Given the description of an element on the screen output the (x, y) to click on. 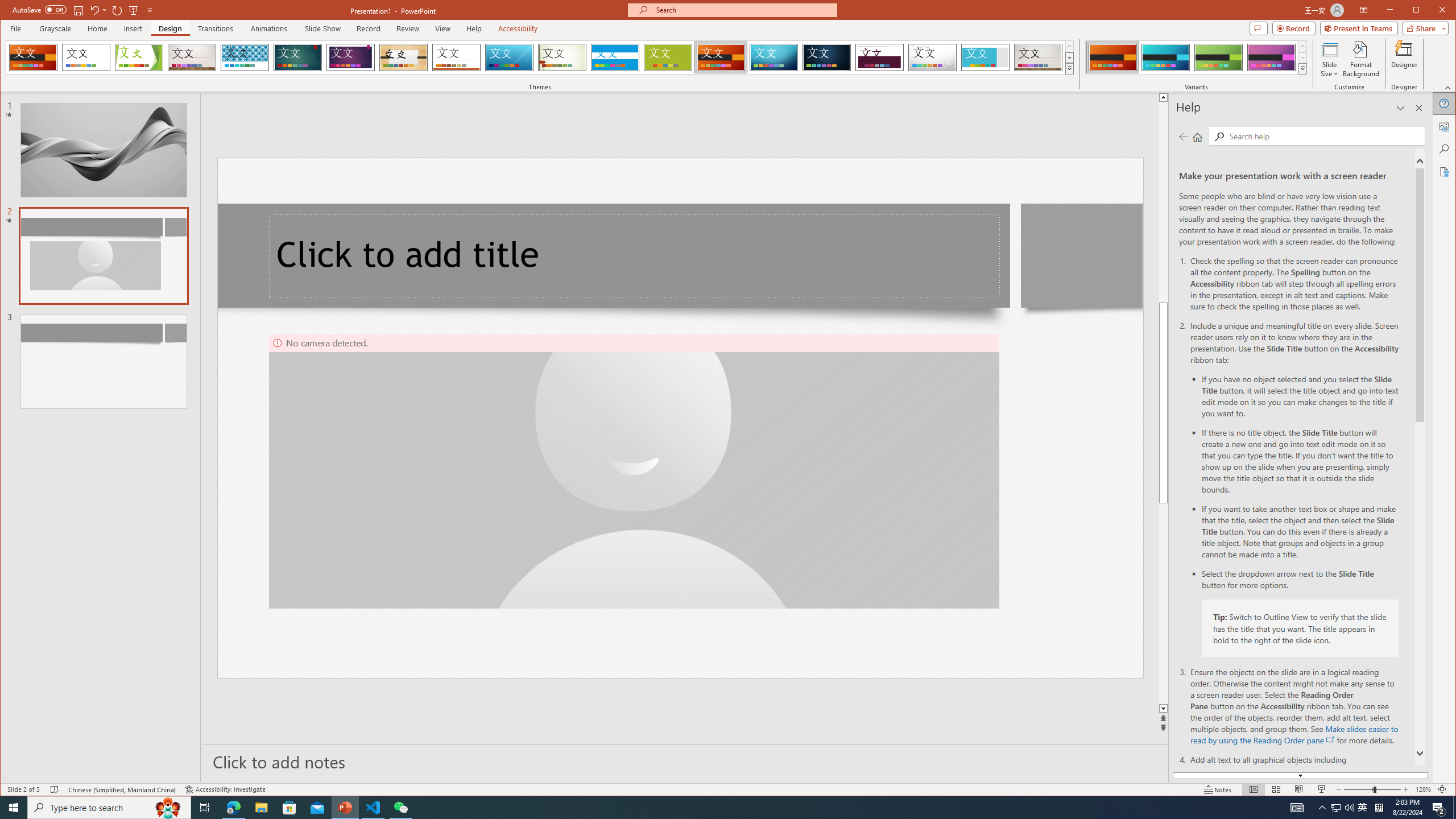
Basis (668, 57)
openinnewwindow (1330, 739)
Camera 4, No camera detected. (633, 471)
Variants (1302, 68)
